Given the description of an element on the screen output the (x, y) to click on. 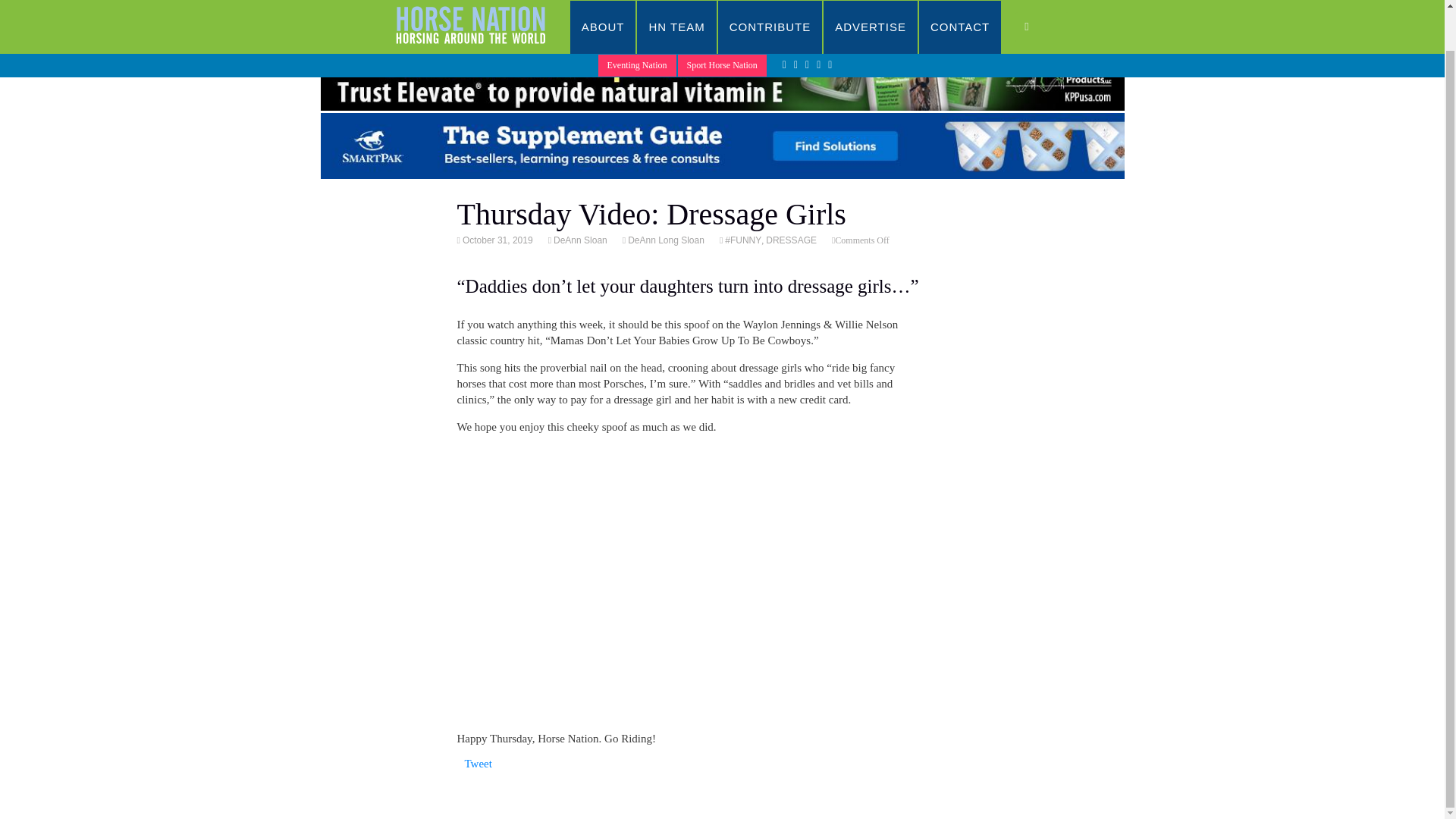
HN TEAM (676, 5)
DRESSAGE (790, 240)
CONTACT (959, 5)
Sport Horse Nation (722, 23)
ADVERTISE (870, 5)
October 31, 2019 (496, 240)
ABOUT (603, 5)
Eventing Nation (637, 23)
DeAnn Long Sloan (665, 240)
Permalink to Thursday Video: Dressage Girls (496, 240)
